Given the description of an element on the screen output the (x, y) to click on. 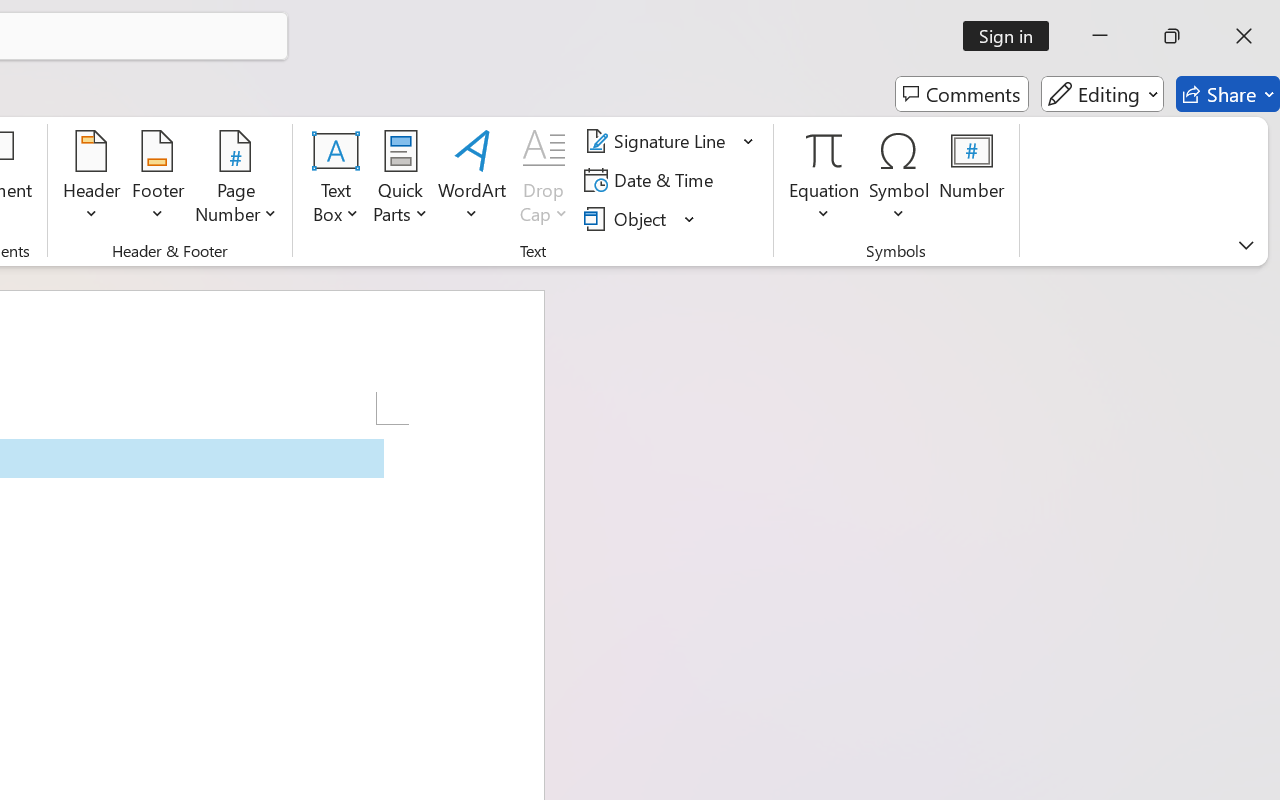
Drop Cap (543, 179)
Text Box (335, 179)
Symbol (899, 179)
Page Number (236, 179)
Signature Line (669, 141)
Header (92, 179)
Date & Time... (651, 179)
